Given the description of an element on the screen output the (x, y) to click on. 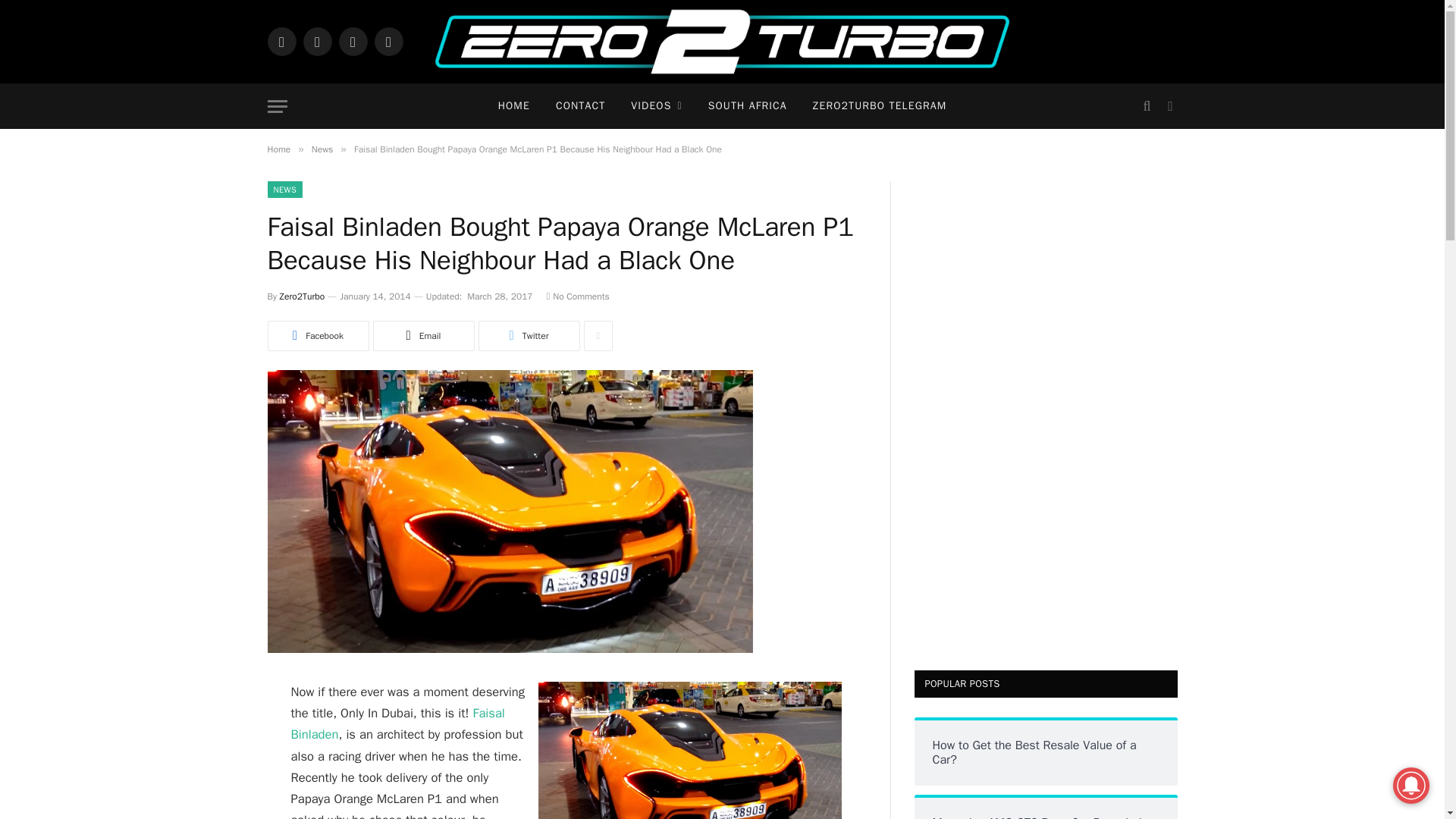
SOUTH AFRICA (747, 105)
Zero2Turbo (722, 41)
Zero2Turbo (301, 296)
Instagram (351, 41)
No Comments (578, 296)
Switch to Dark Design - easier on eyes. (1168, 106)
Twitter (528, 336)
ZERO2TURBO TELEGRAM (879, 105)
VIDEOS (655, 105)
Home (277, 149)
News (322, 149)
Posts by Zero2Turbo (301, 296)
RSS (388, 41)
Email (423, 336)
NEWS (284, 189)
